Given the description of an element on the screen output the (x, y) to click on. 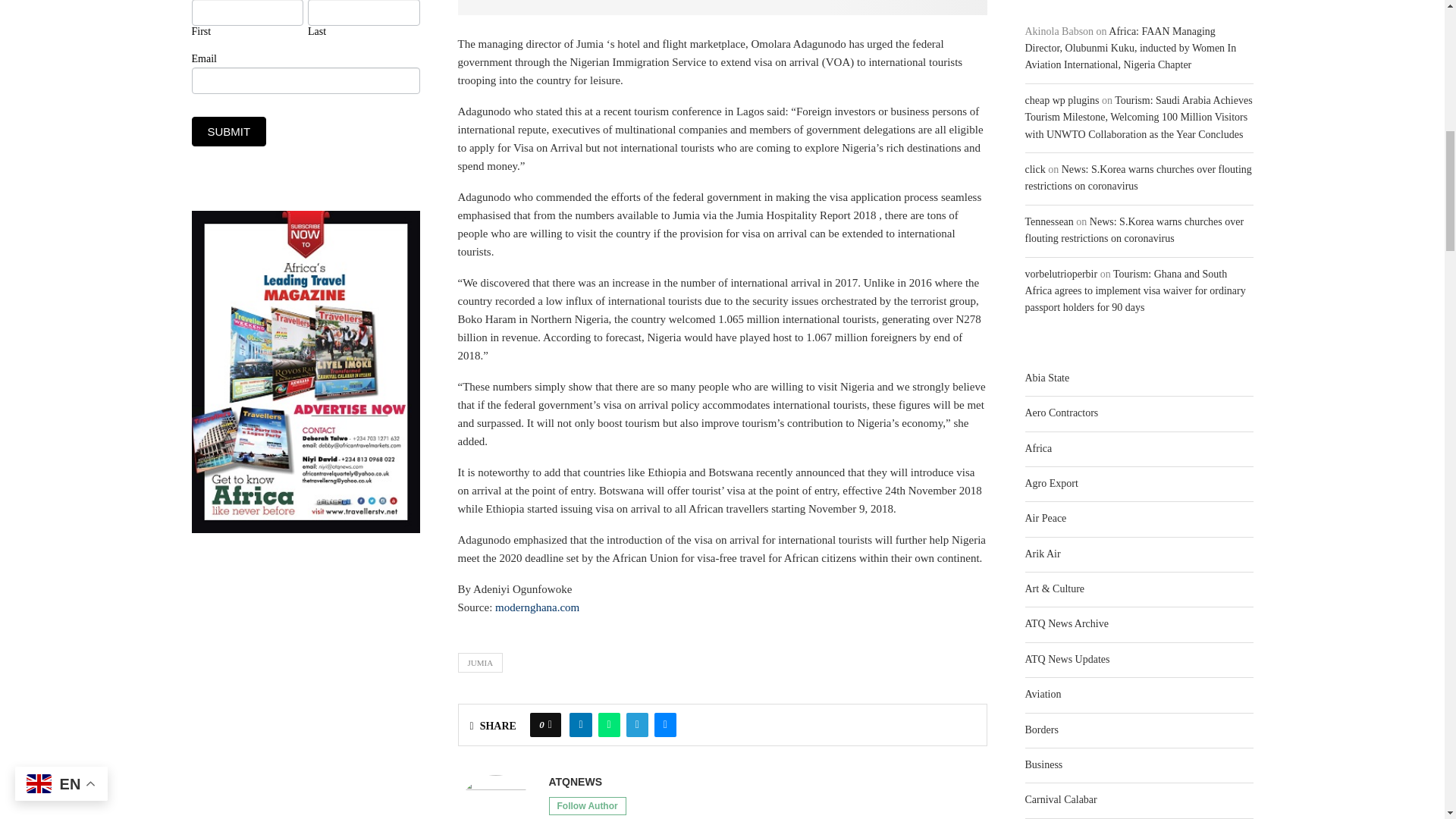
Author Atqnews (575, 781)
